Given the description of an element on the screen output the (x, y) to click on. 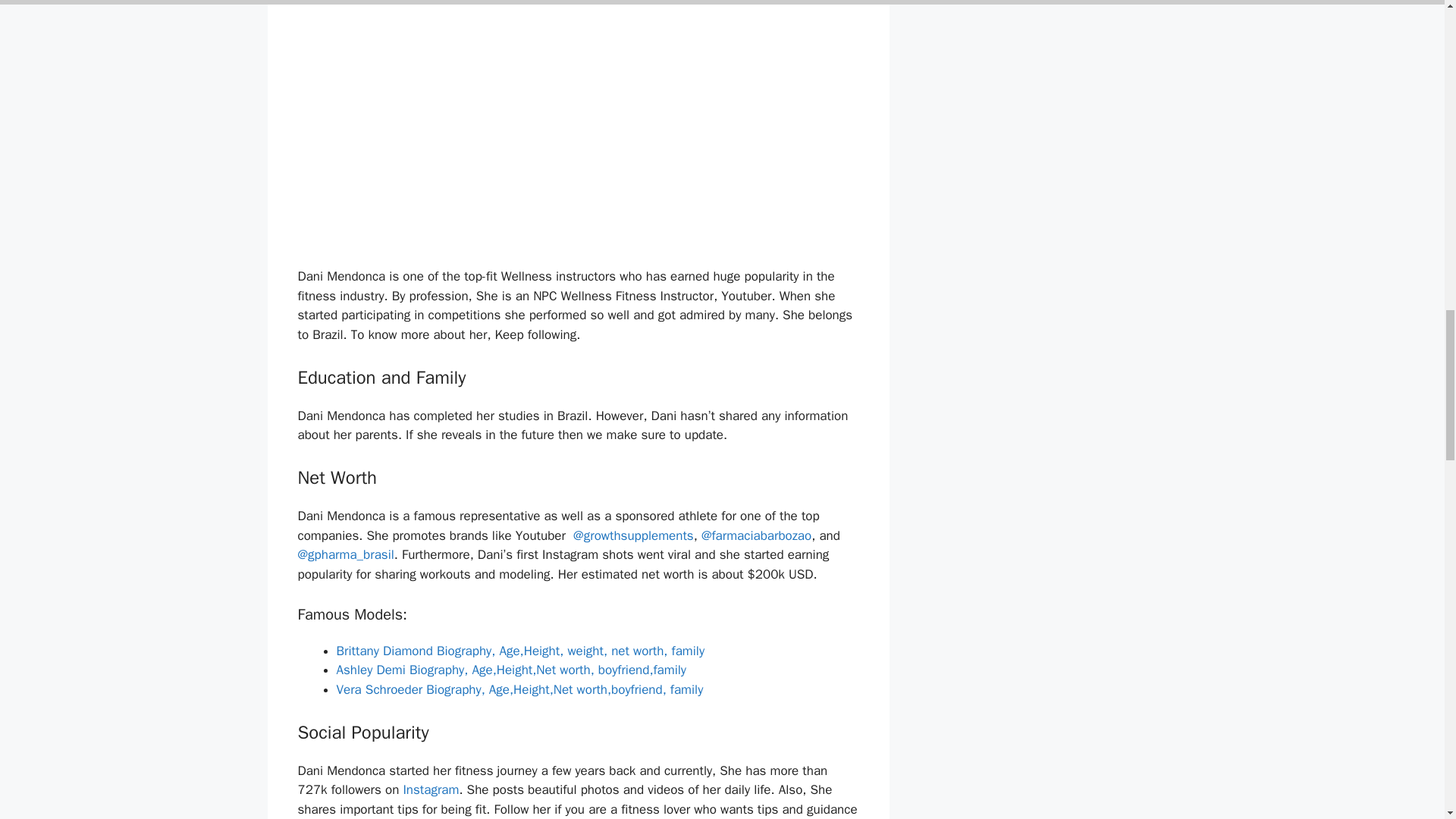
Dani Mendonca 3 (460, 133)
Instagram (430, 789)
